Given the description of an element on the screen output the (x, y) to click on. 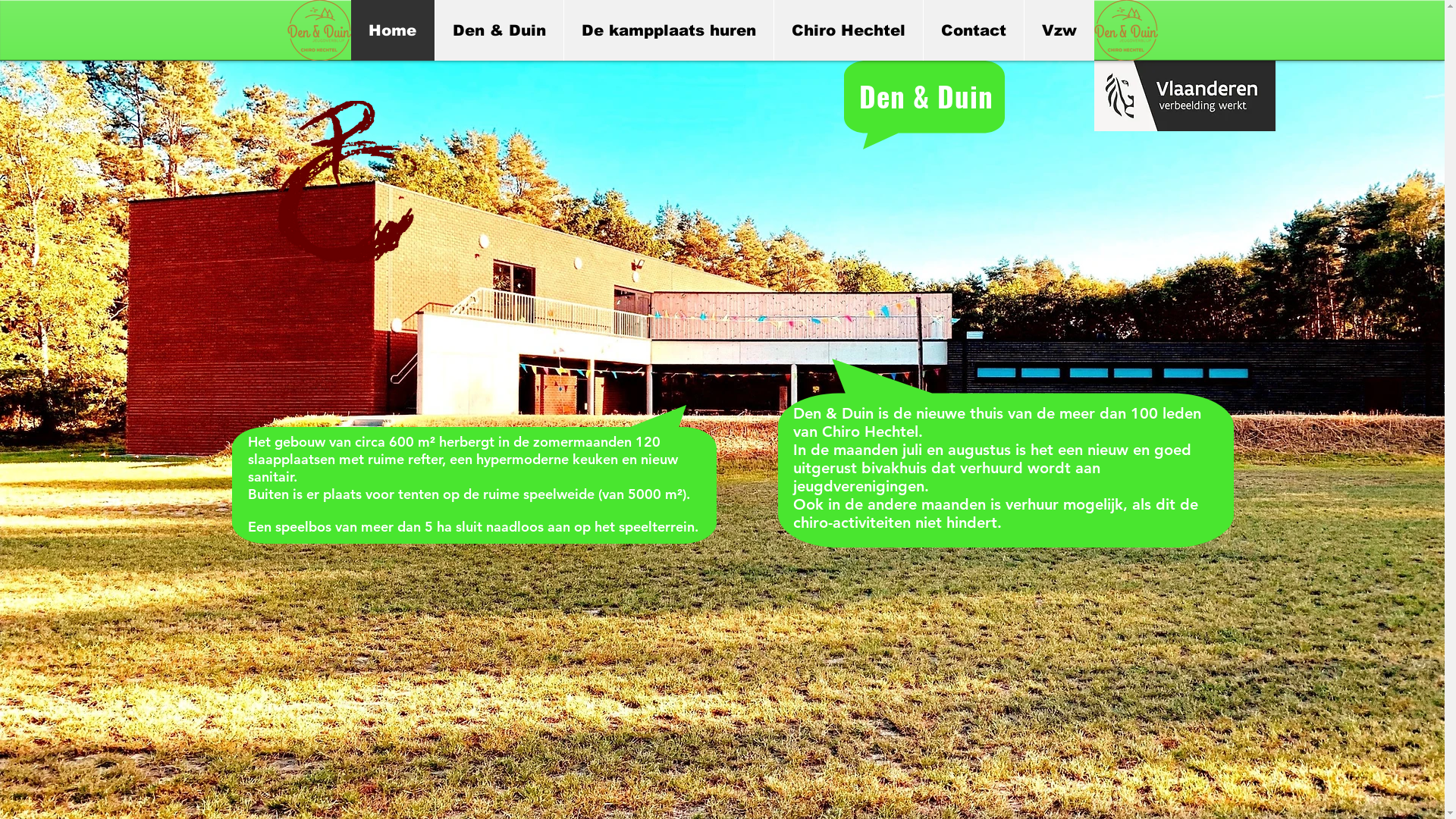
De kampplaats huren Element type: text (667, 30)
Contact Element type: text (972, 30)
Home Element type: text (391, 30)
Den & Duin Element type: text (497, 30)
Chiro Hechtel Element type: text (847, 30)
Vzw Element type: text (1058, 30)
